Given the description of an element on the screen output the (x, y) to click on. 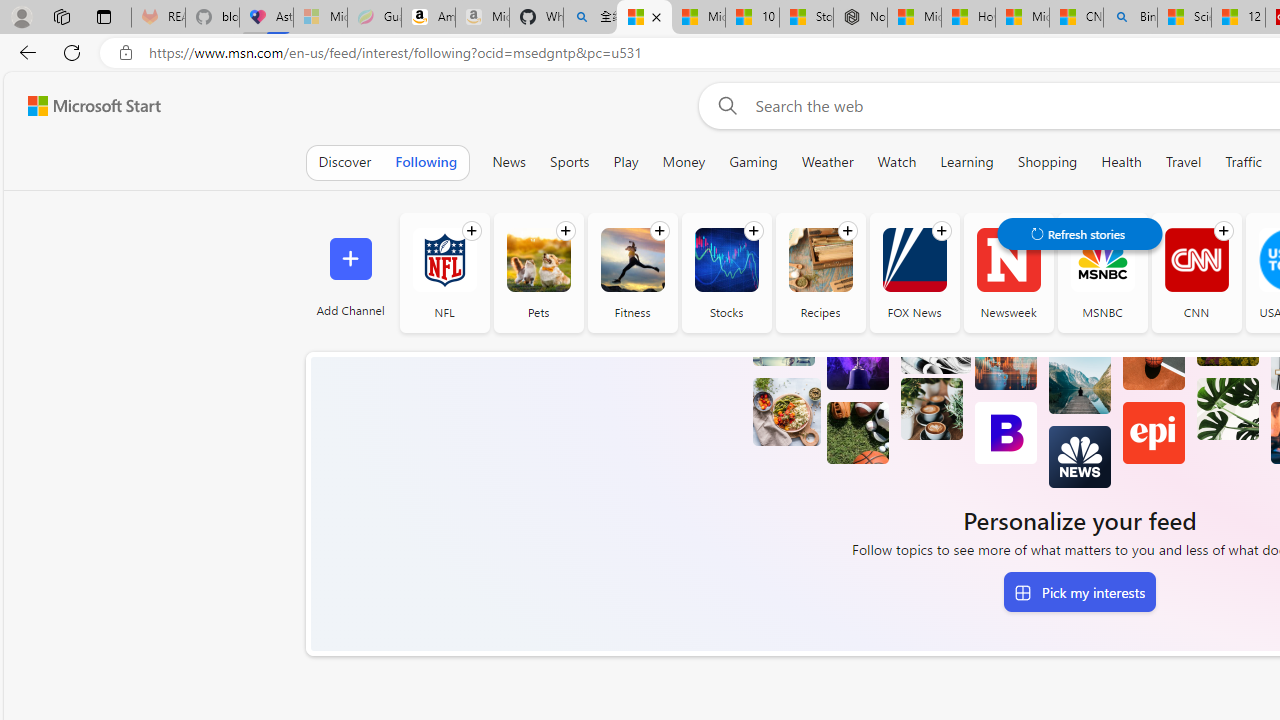
Weather (827, 161)
Fitness (632, 260)
Sports (569, 162)
Play (626, 162)
FOX News (914, 272)
Health (1121, 161)
MSNBC (1102, 260)
Add Channel (349, 272)
Follow channel (1223, 231)
Money (683, 161)
Watch (897, 161)
